Given the description of an element on the screen output the (x, y) to click on. 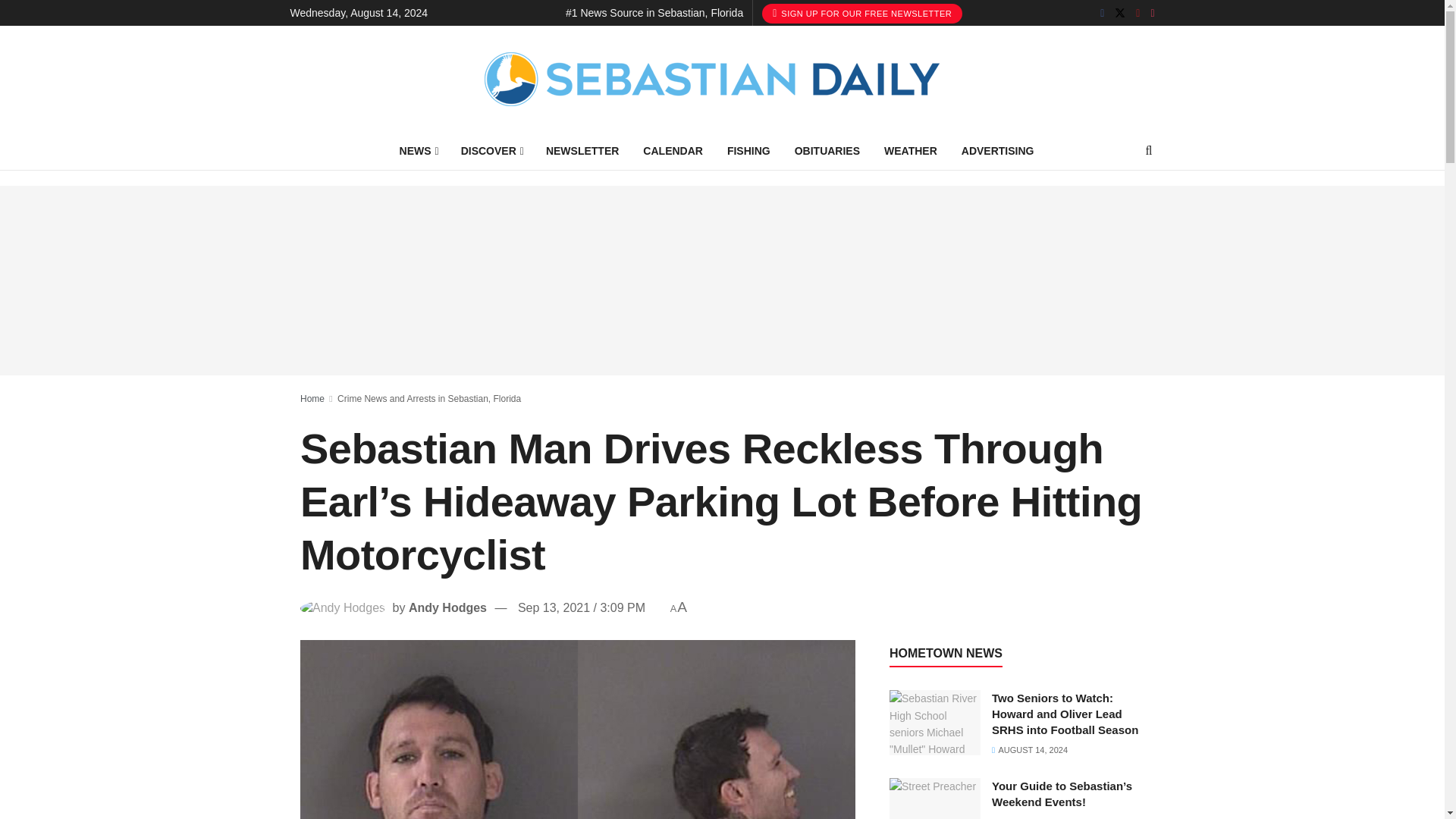
DISCOVER (491, 150)
SIGN UP FOR OUR FREE NEWSLETTER (861, 13)
NEWS (417, 150)
